Given the description of an element on the screen output the (x, y) to click on. 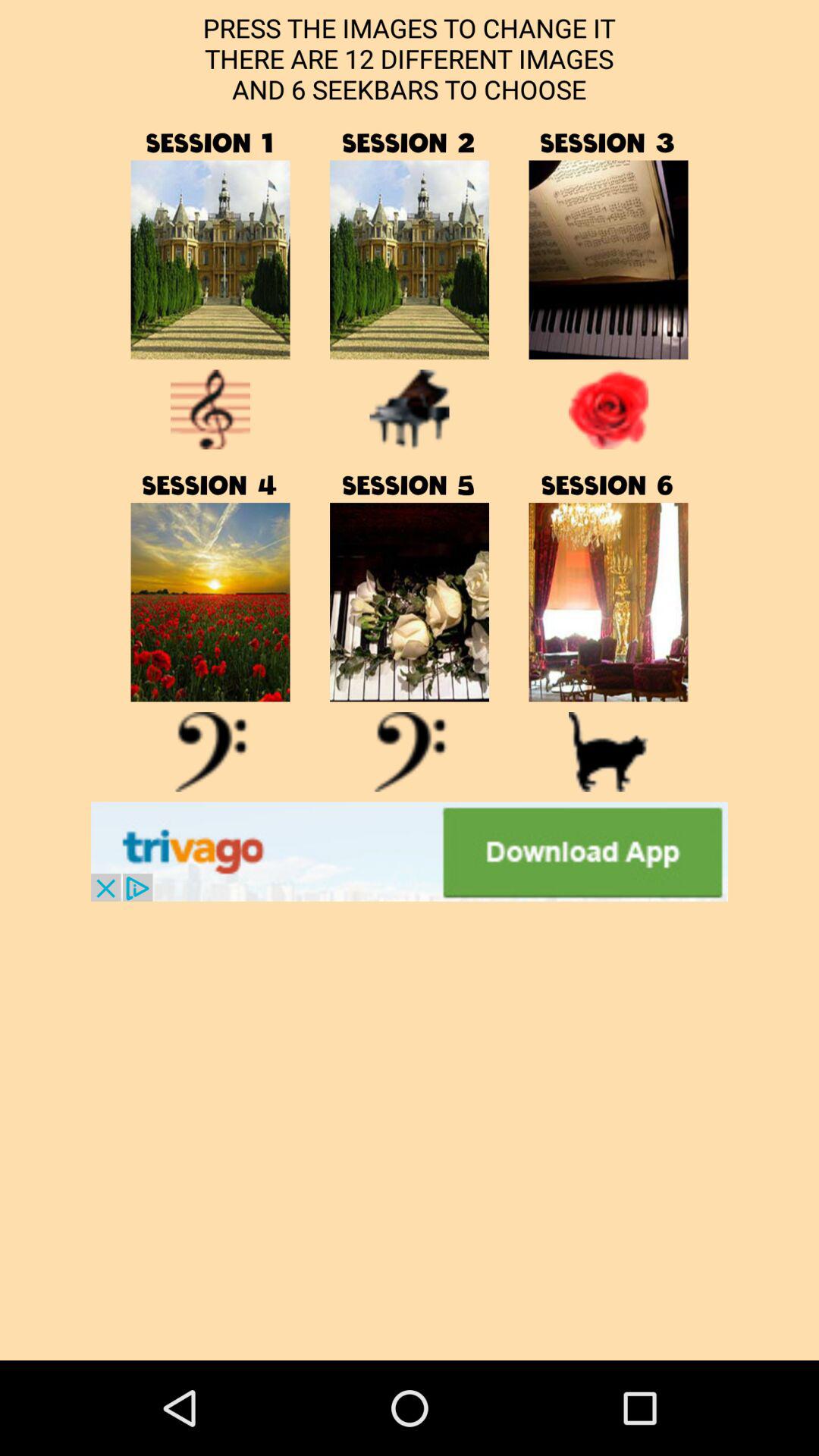
play music session 2 (409, 259)
